Given the description of an element on the screen output the (x, y) to click on. 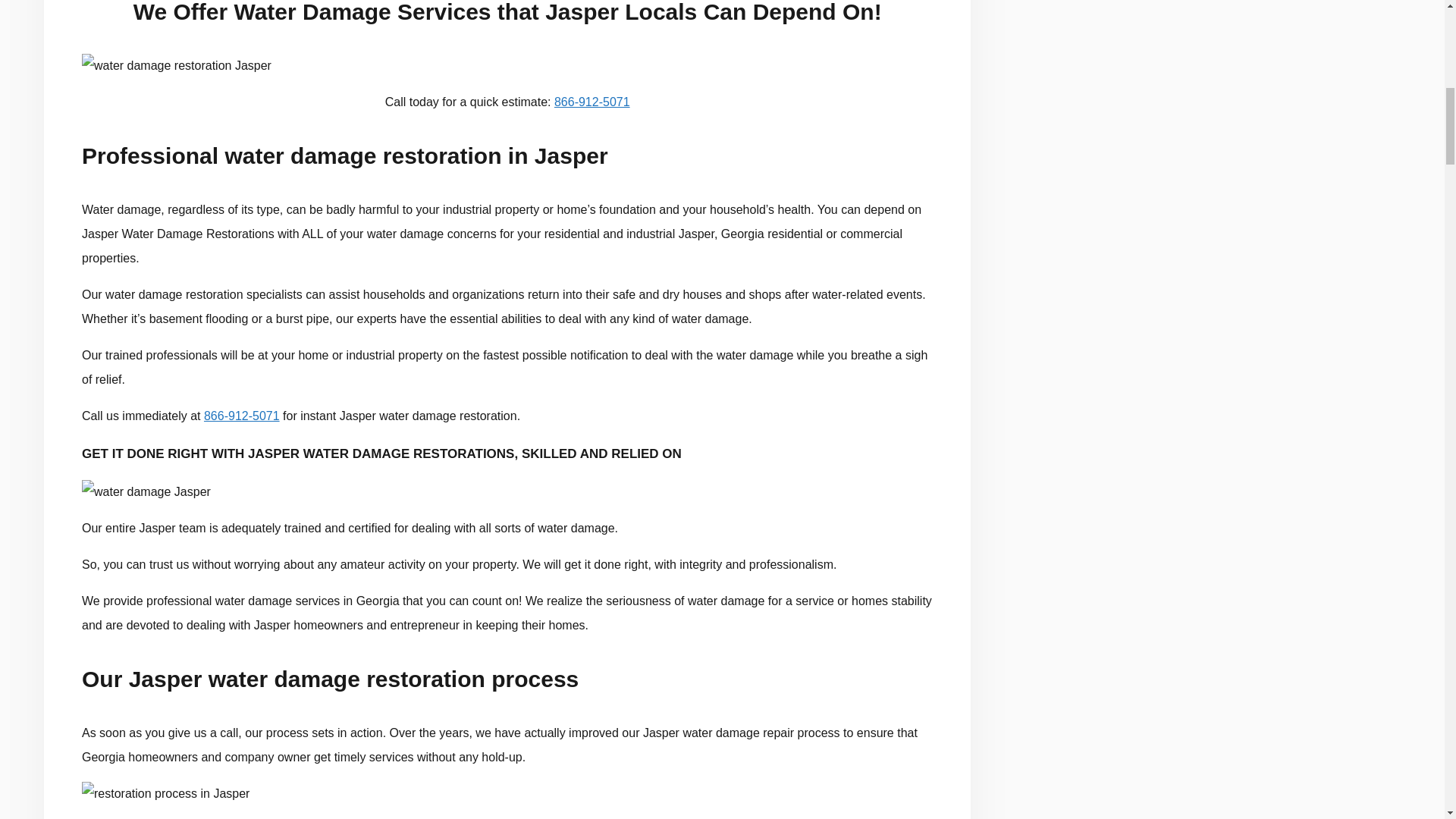
866-912-5071 (241, 415)
866-912-5071 (592, 101)
